Given the description of an element on the screen output the (x, y) to click on. 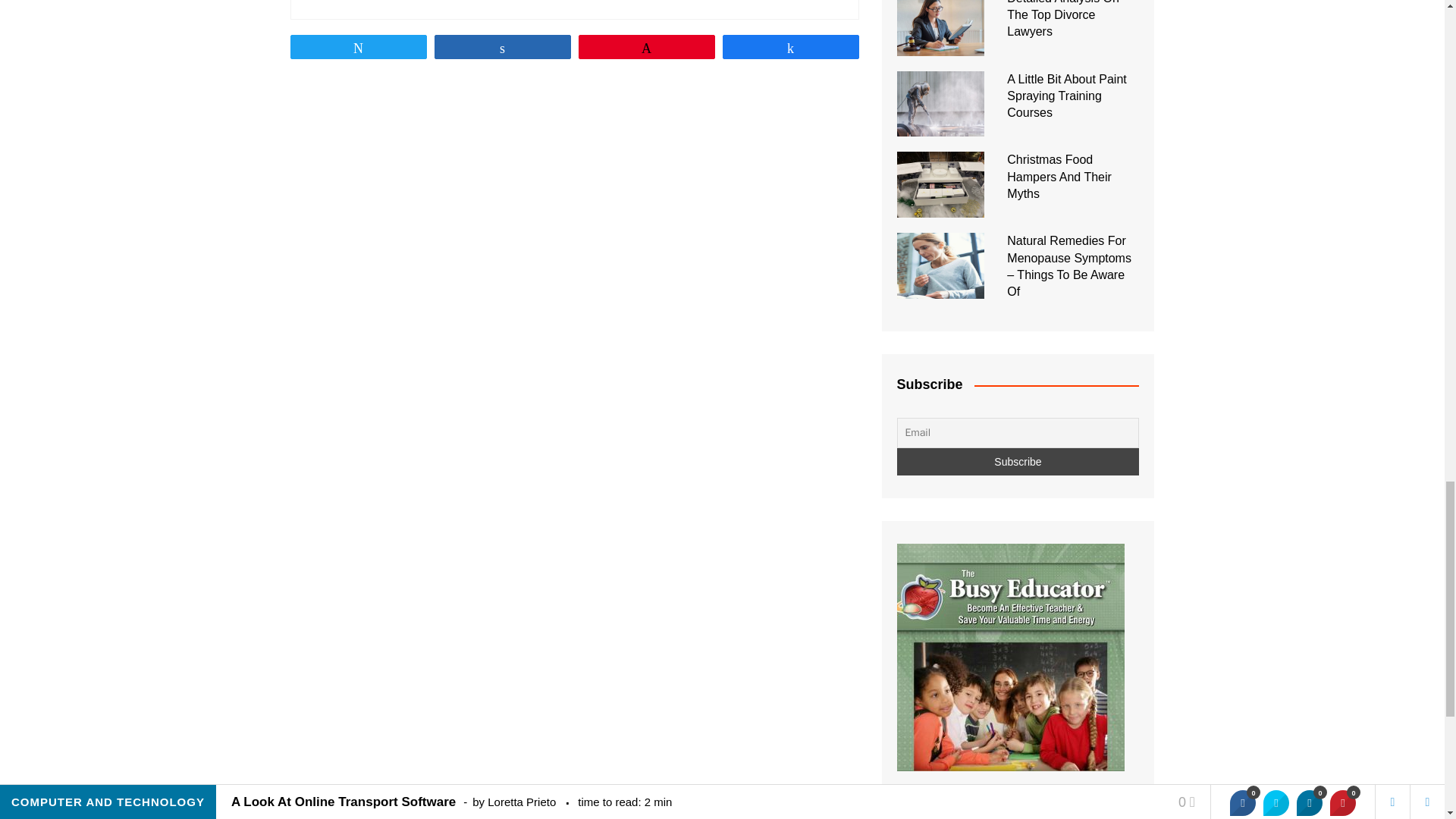
Subscribe (1017, 461)
